Given the description of an element on the screen output the (x, y) to click on. 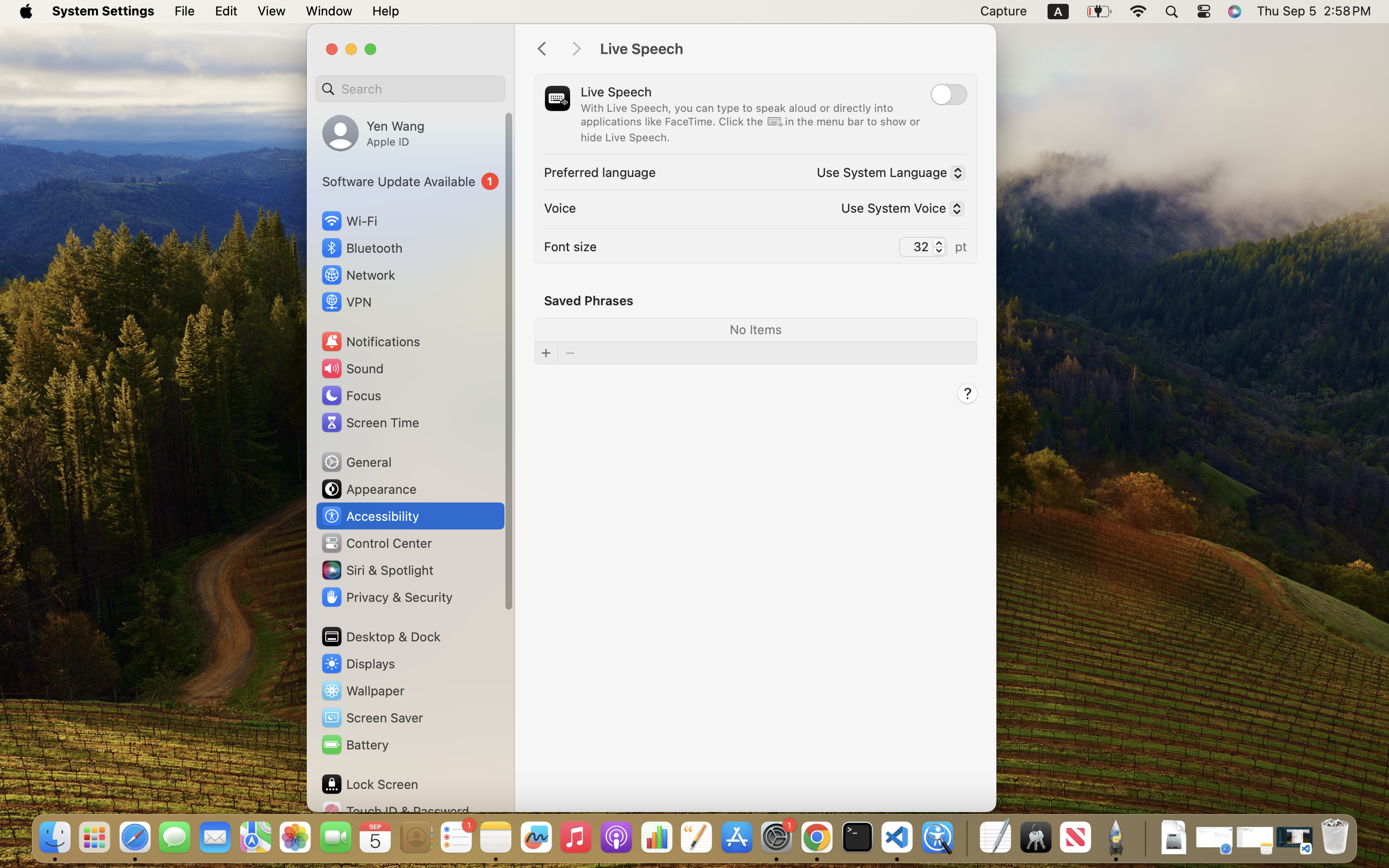
Sound Element type: AXStaticText (351, 367)
